Given the description of an element on the screen output the (x, y) to click on. 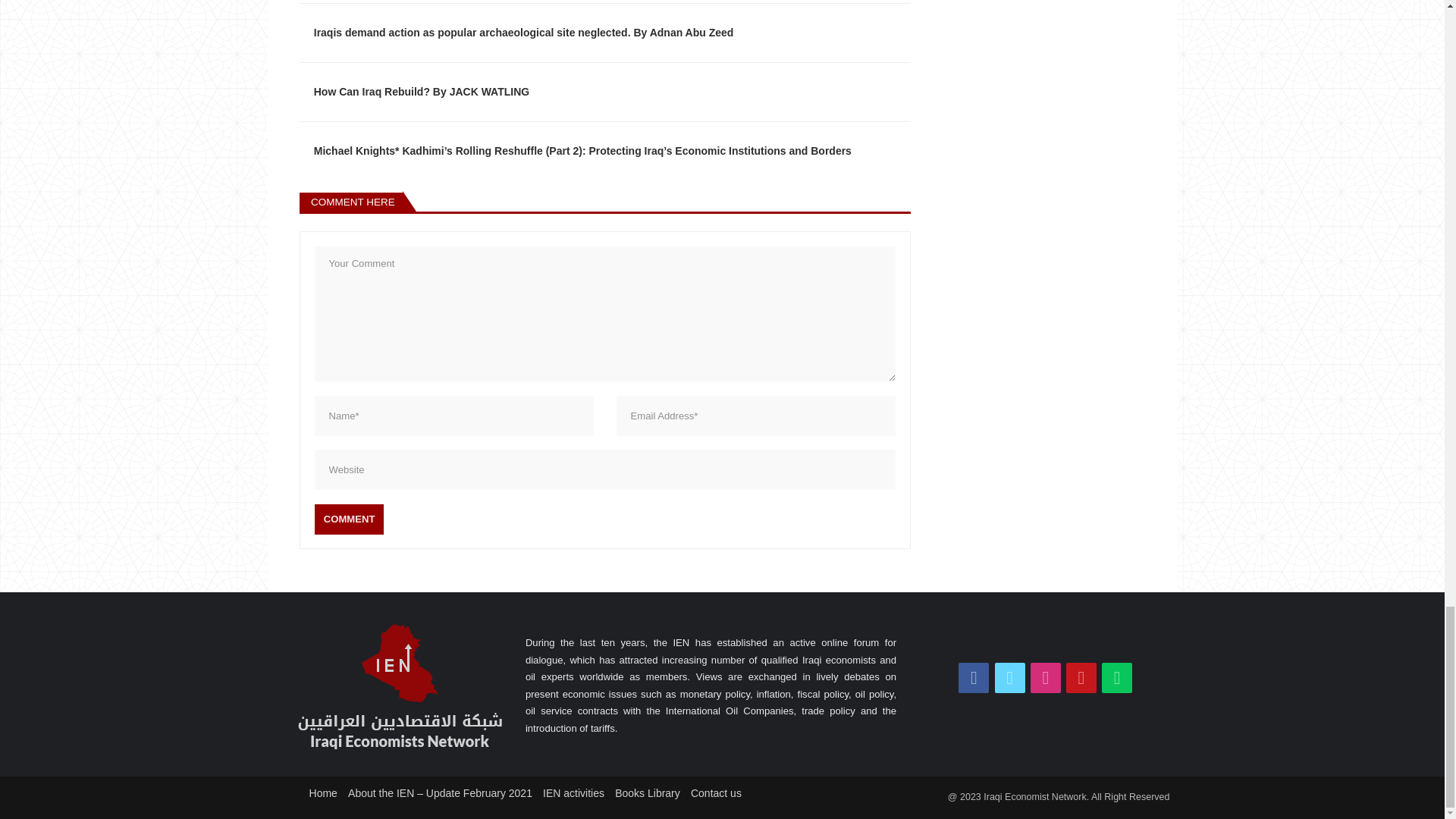
Comment (349, 519)
